Given the description of an element on the screen output the (x, y) to click on. 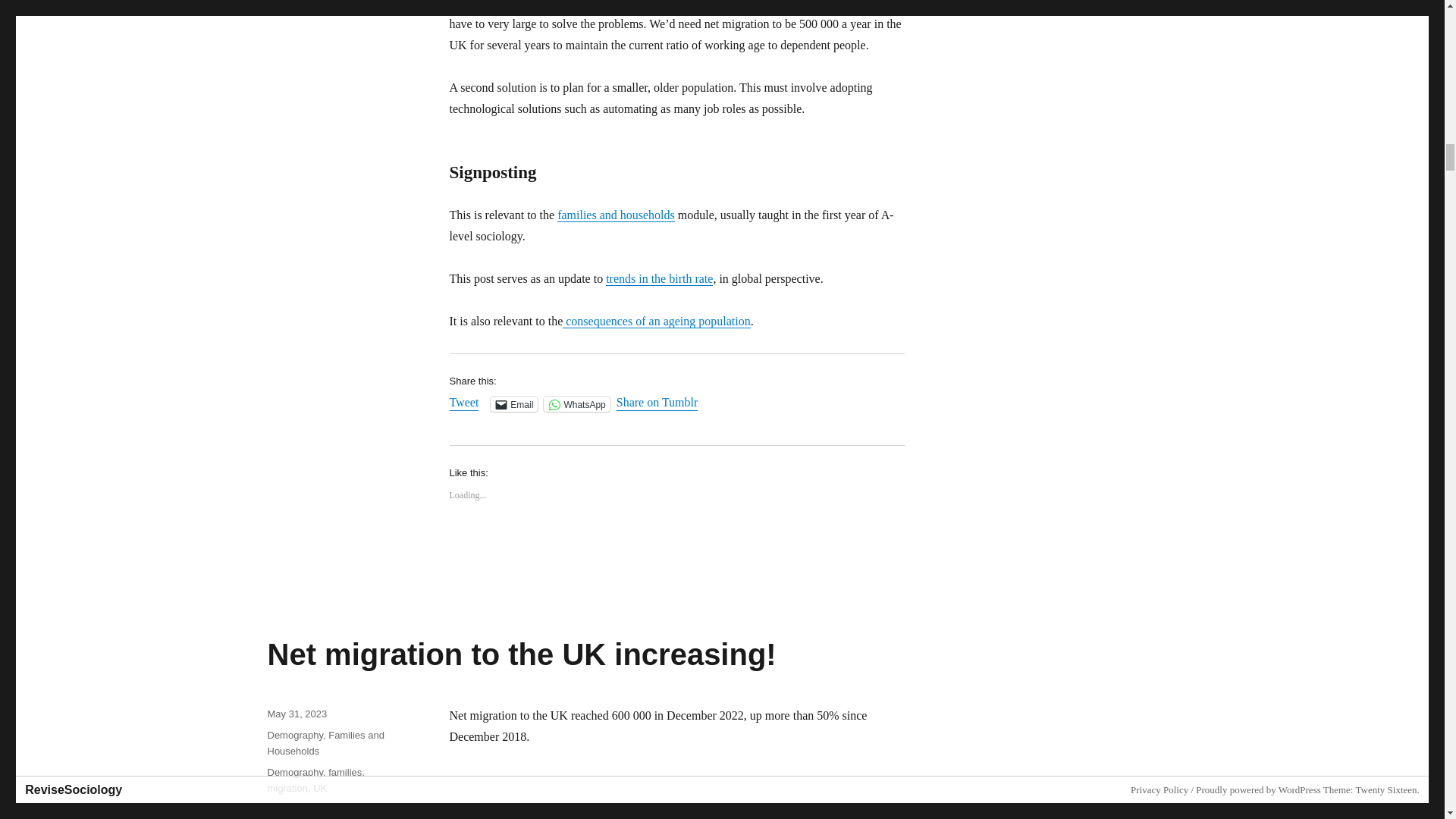
Share on Tumblr (656, 403)
trends in the birth rate (659, 278)
Click to email a link to a friend (513, 403)
Click to share on WhatsApp (576, 403)
consequences of an ageing population (655, 320)
Email (513, 403)
Tweet (463, 403)
families and households (616, 214)
Share on Tumblr (656, 403)
WhatsApp (576, 403)
